Given the description of an element on the screen output the (x, y) to click on. 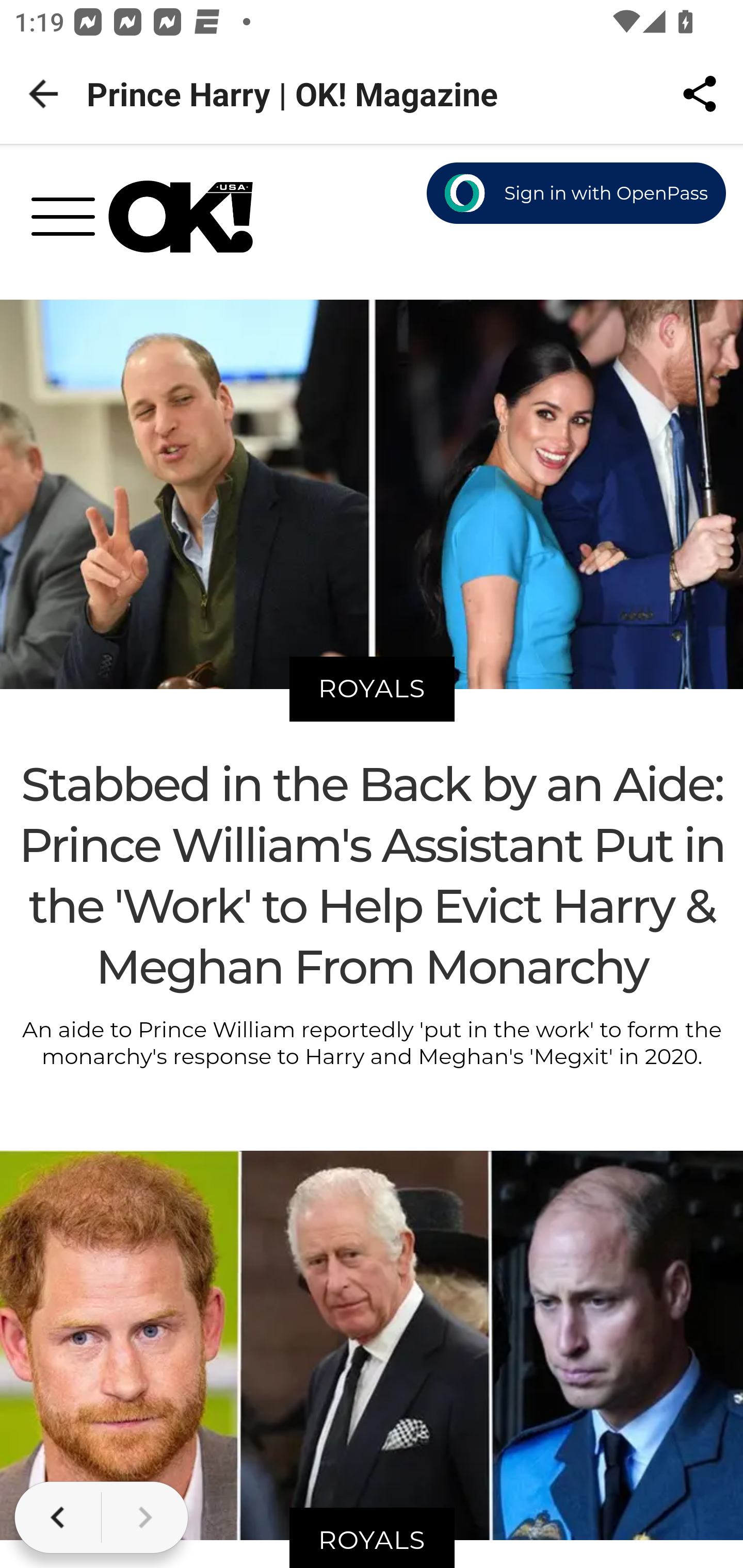
Sign in with OpenPass Button (576, 194)
toggle (70, 221)
OK Magazine (180, 217)
